Given the description of an element on the screen output the (x, y) to click on. 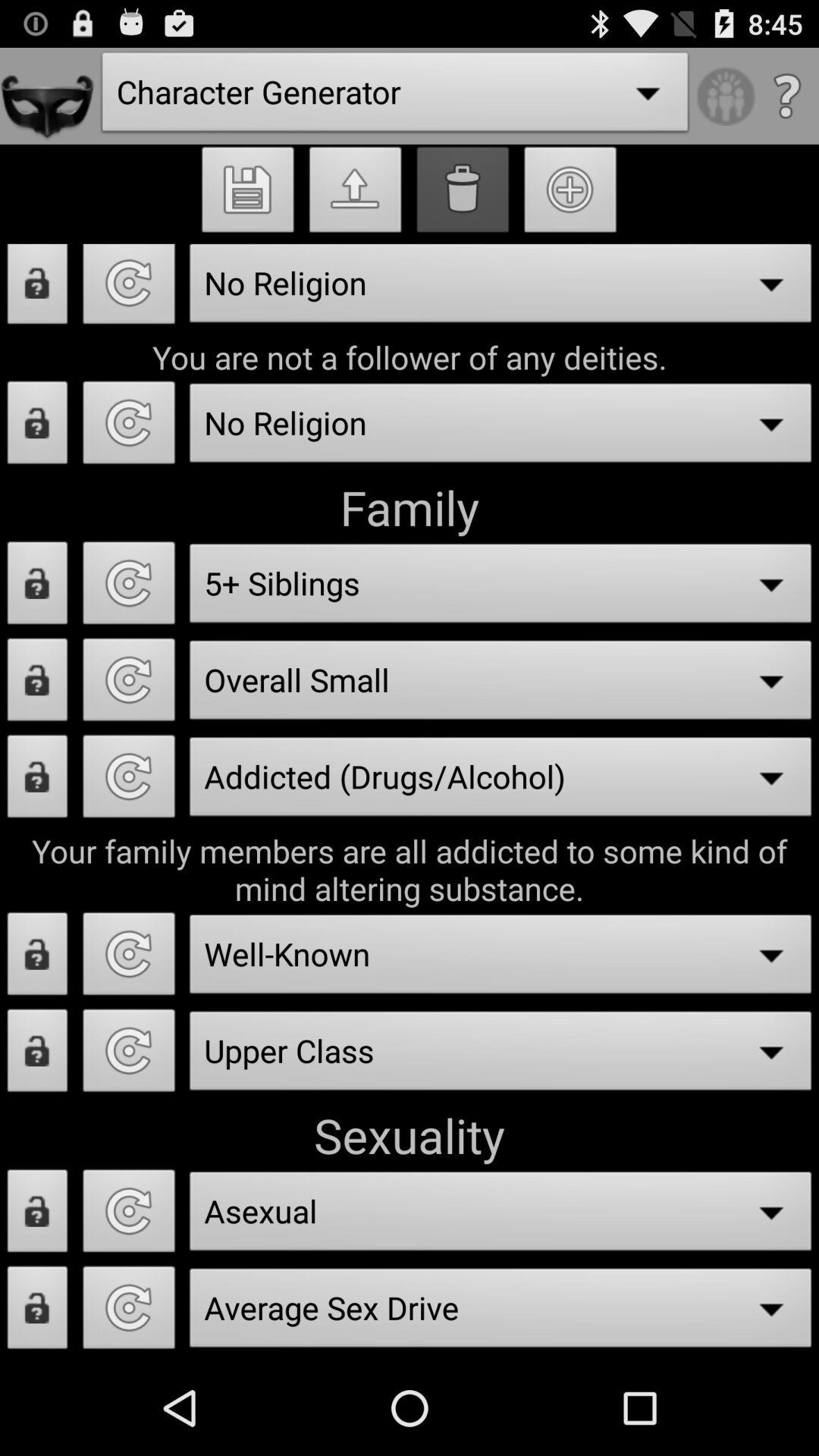
randomize trait (129, 1311)
